Given the description of an element on the screen output the (x, y) to click on. 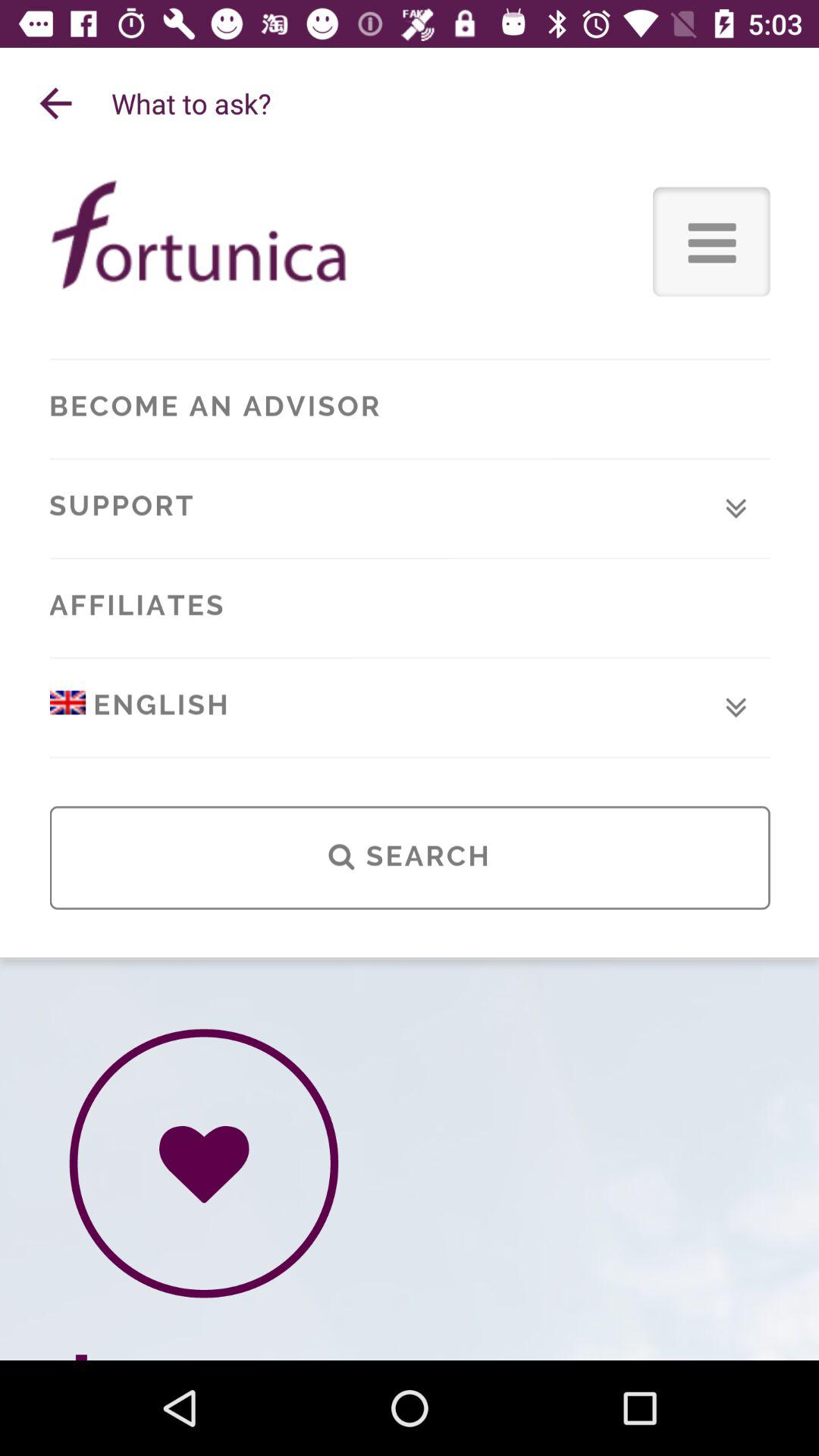
full seleat (409, 759)
